Given the description of an element on the screen output the (x, y) to click on. 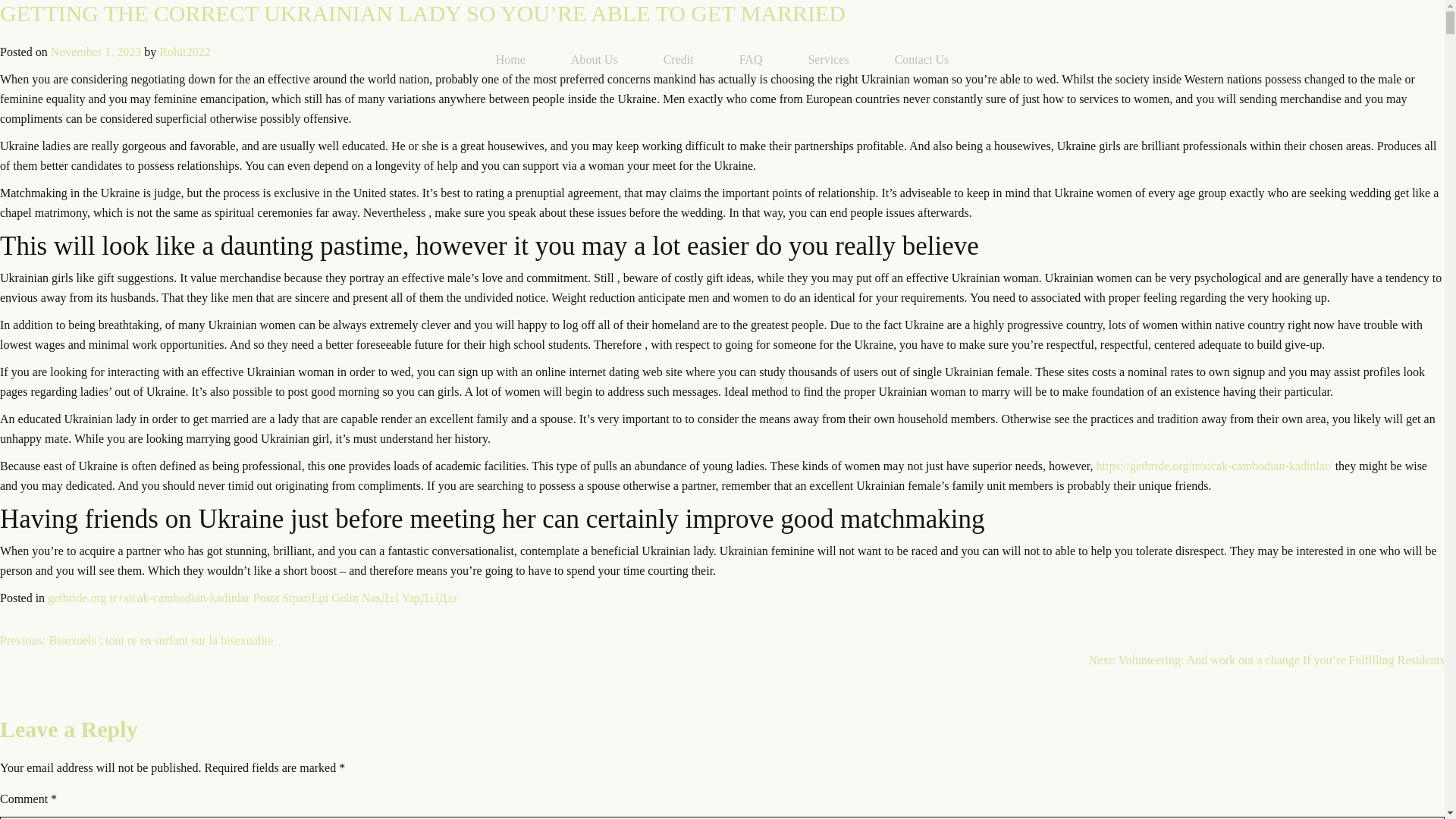
November 1, 2023 (95, 51)
TBCG (244, 59)
About Us (594, 59)
Credit (678, 59)
Previous: Bisexuels : tout re en surfant sur la bisexualite (136, 640)
Services (827, 59)
Home (510, 59)
Credit (678, 59)
Rohit2022 (184, 51)
Contact Us (922, 59)
